Given the description of an element on the screen output the (x, y) to click on. 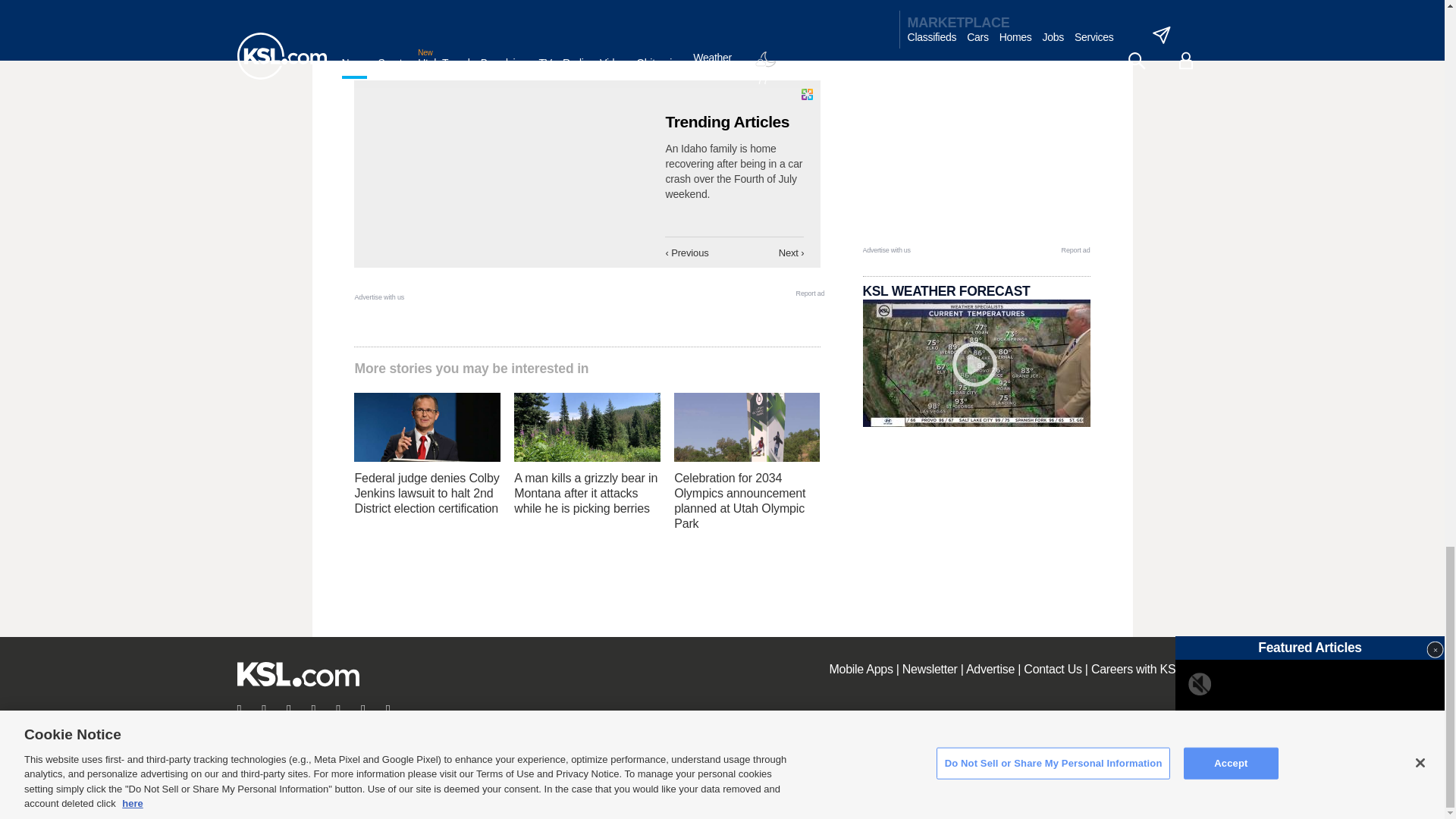
3rd party ad content (976, 149)
